Given the description of an element on the screen output the (x, y) to click on. 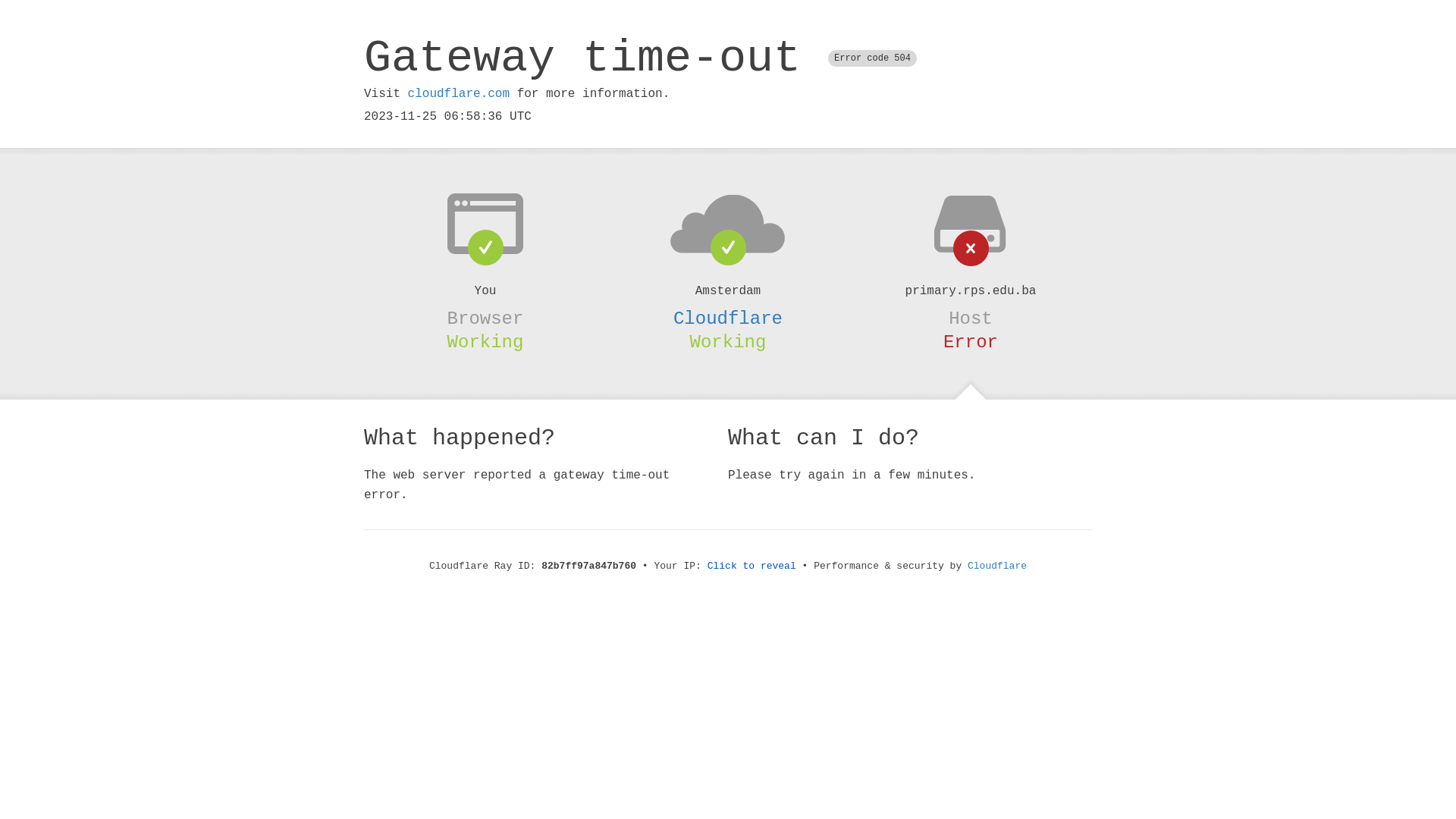
Click to reveal Element type: text (751, 565)
cloudflare.com Element type: text (458, 93)
Cloudflare Element type: text (996, 565)
Cloudflare Element type: text (727, 318)
